Given the description of an element on the screen output the (x, y) to click on. 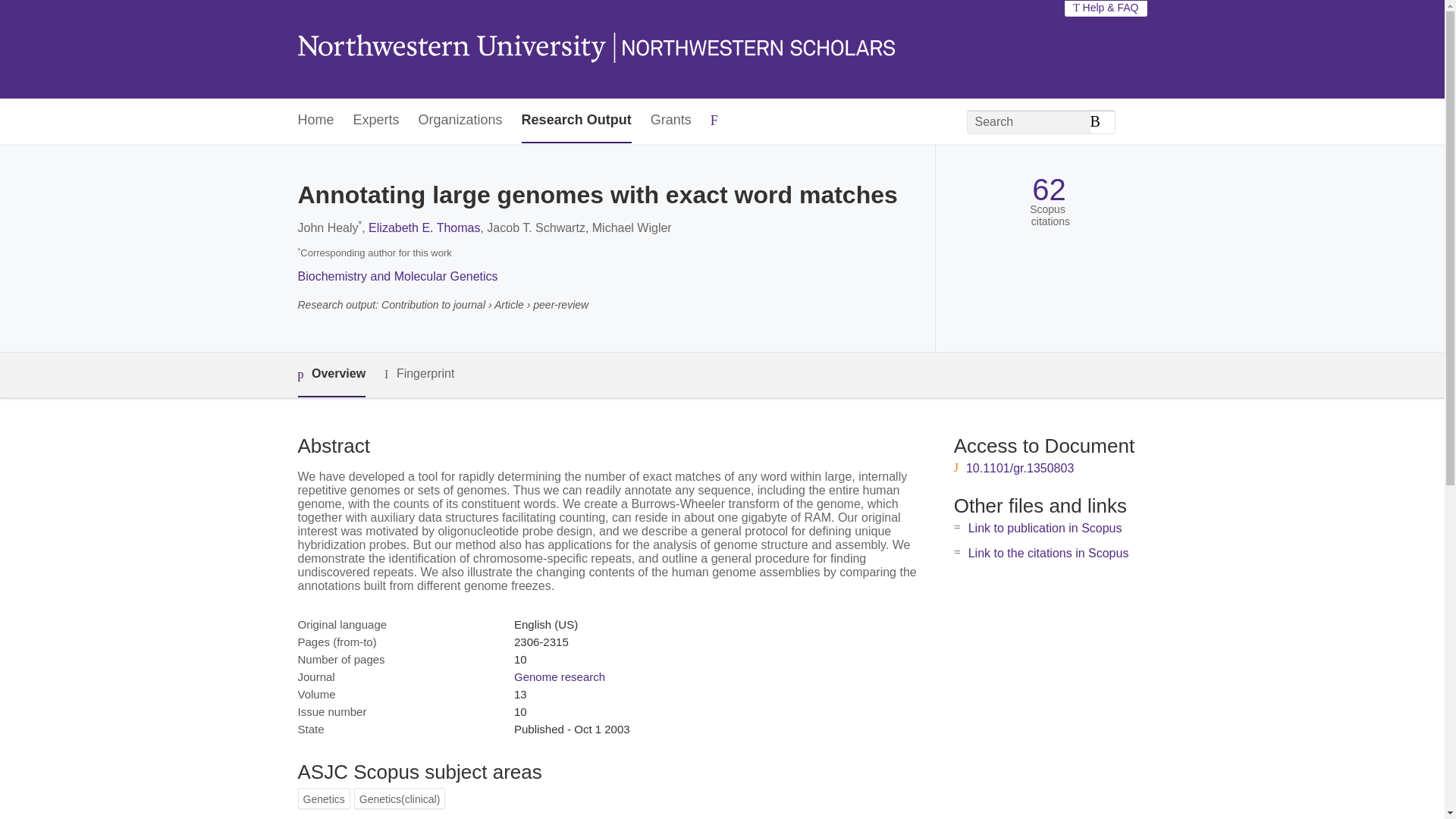
Research Output (576, 120)
Northwestern Scholars Home (595, 49)
Elizabeth E. Thomas (424, 227)
Link to publication in Scopus (1045, 527)
Organizations (460, 120)
Experts (375, 120)
Link to the citations in Scopus (1048, 553)
Fingerprint (419, 373)
Overview (331, 374)
Grants (670, 120)
Home (315, 120)
Genome research (559, 676)
Biochemistry and Molecular Genetics (397, 276)
62 (1048, 189)
